Given the description of an element on the screen output the (x, y) to click on. 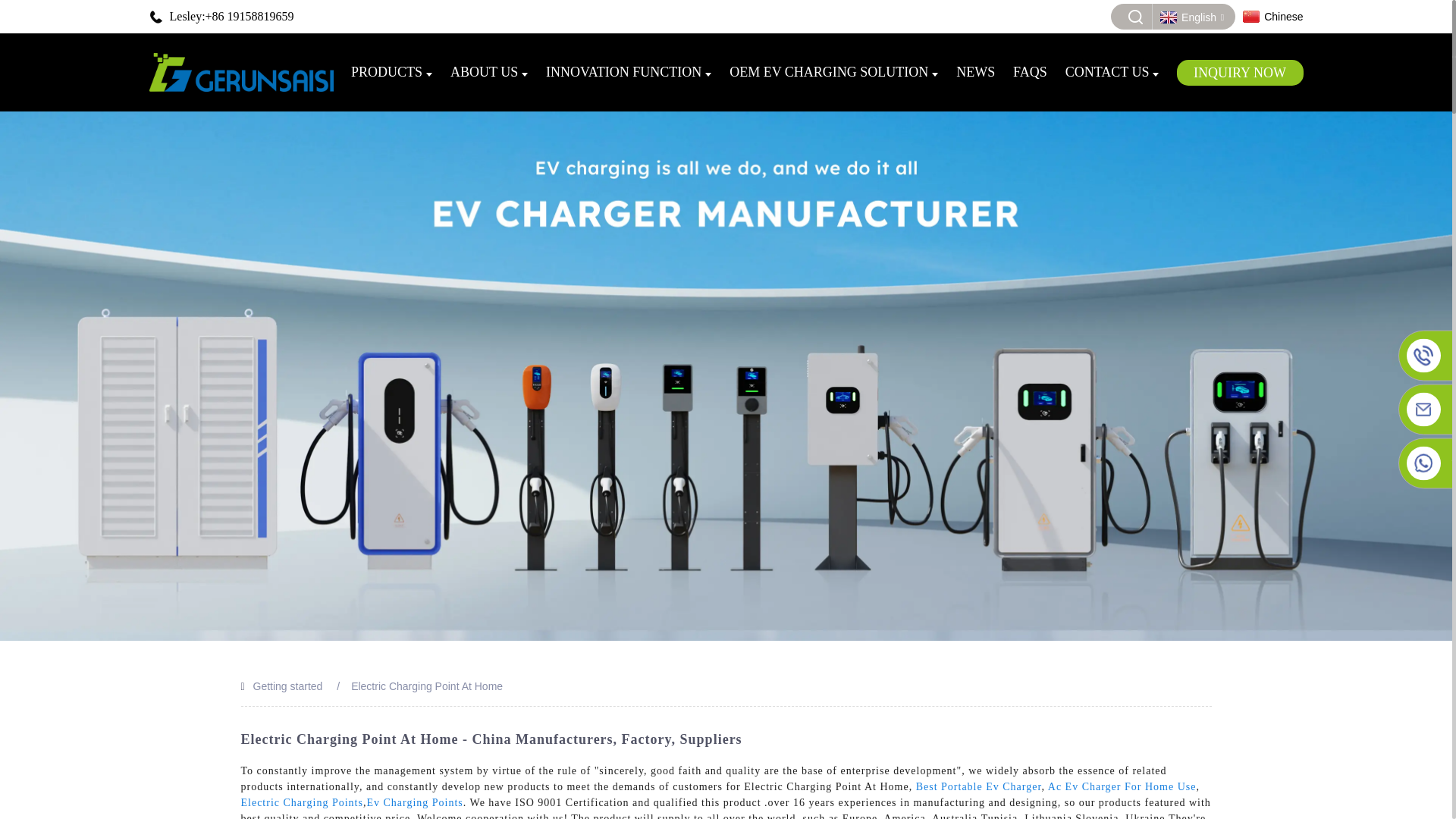
Electric Charging Points (301, 802)
Getting started (288, 686)
Electric Charging Points (301, 802)
INQUIRY NOW (1239, 72)
PRODUCTS (391, 71)
ABOUT US (488, 71)
Ev Charging Points (414, 802)
Best Portable Ev Charger (978, 786)
CONTACT US (1112, 71)
Electric Charging Point At Home (426, 686)
